Given the description of an element on the screen output the (x, y) to click on. 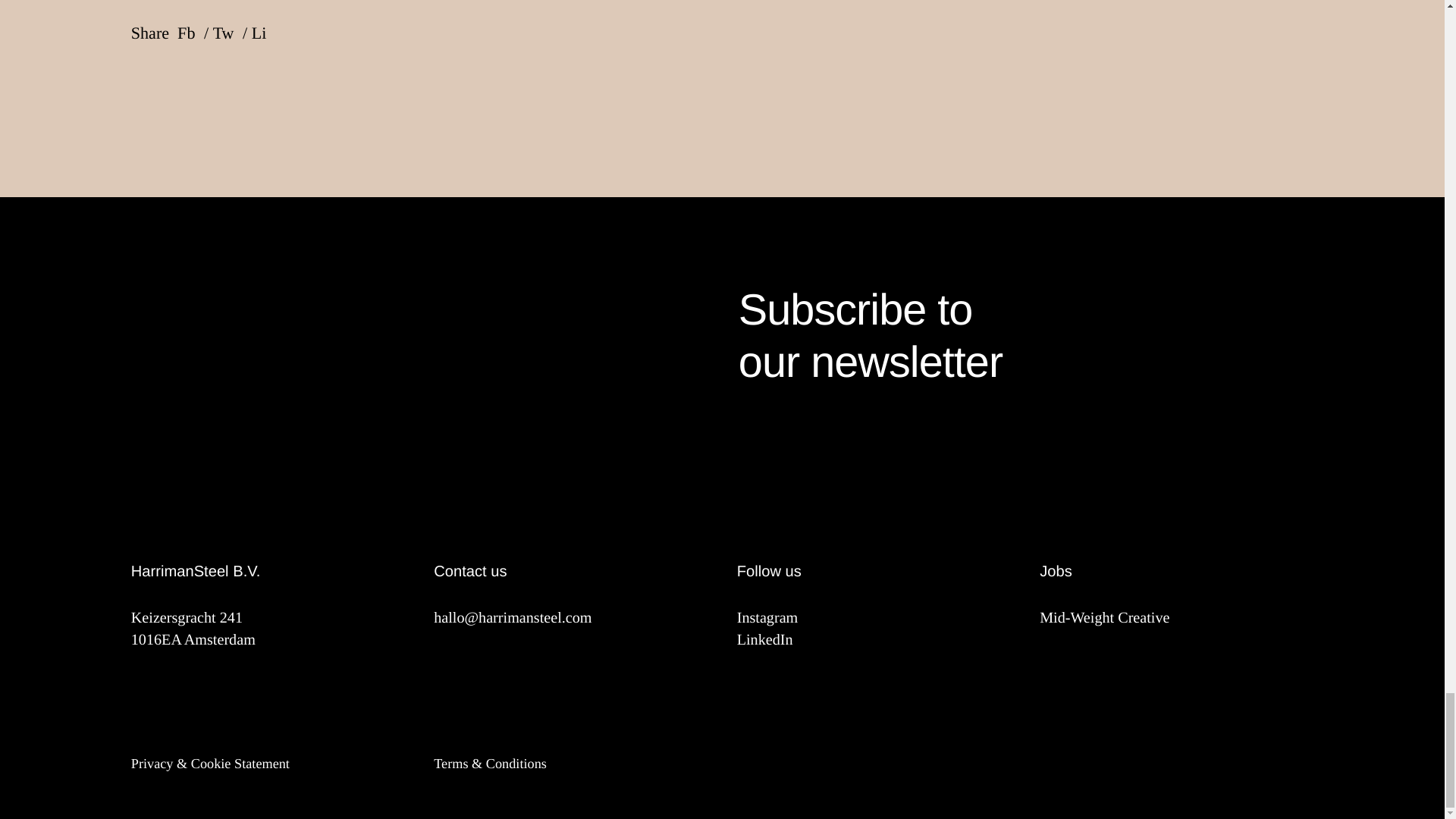
LinkedIn (873, 640)
Instagram (1025, 336)
Mid-Weight Creative (873, 618)
Fb (1176, 618)
Tw (192, 37)
